Given the description of an element on the screen output the (x, y) to click on. 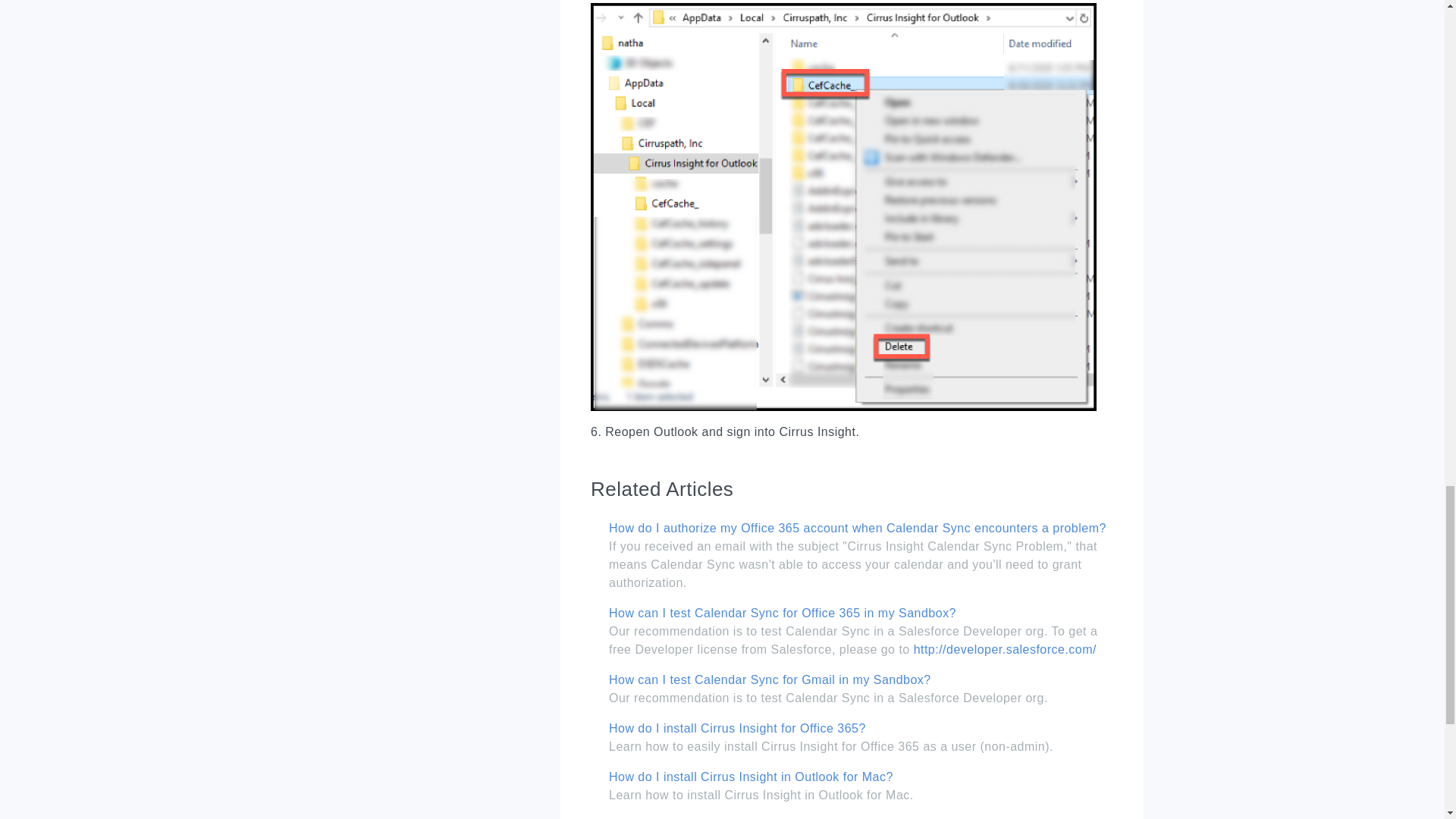
How can I test Calendar Sync for Office 365 in my Sandbox? (782, 612)
How do I install Cirrus Insight for Office 365? (737, 727)
How do I install Cirrus Insight in Outlook for Mac? (750, 776)
How can I test Calendar Sync for Gmail in my Sandbox? (769, 679)
